Given the description of an element on the screen output the (x, y) to click on. 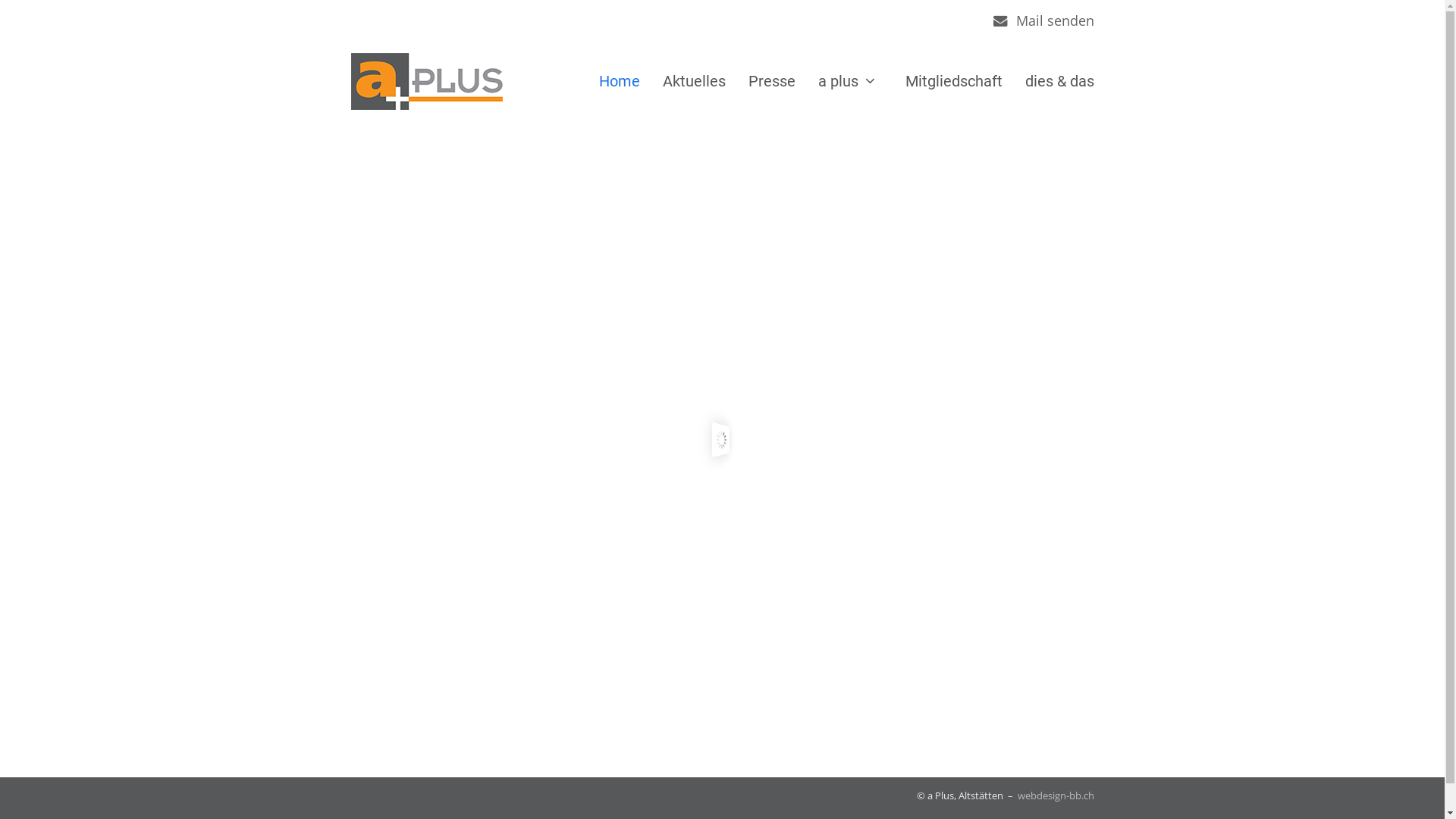
Aktuelles Element type: text (694, 81)
a plus Element type: text (849, 81)
Mitgliedschaft Element type: text (953, 81)
Presse Element type: text (771, 81)
webdesign-bb.ch Element type: text (1055, 795)
Mail senden Element type: text (1055, 19)
dies & das Element type: text (1058, 81)
Home Element type: text (619, 81)
